Given the description of an element on the screen output the (x, y) to click on. 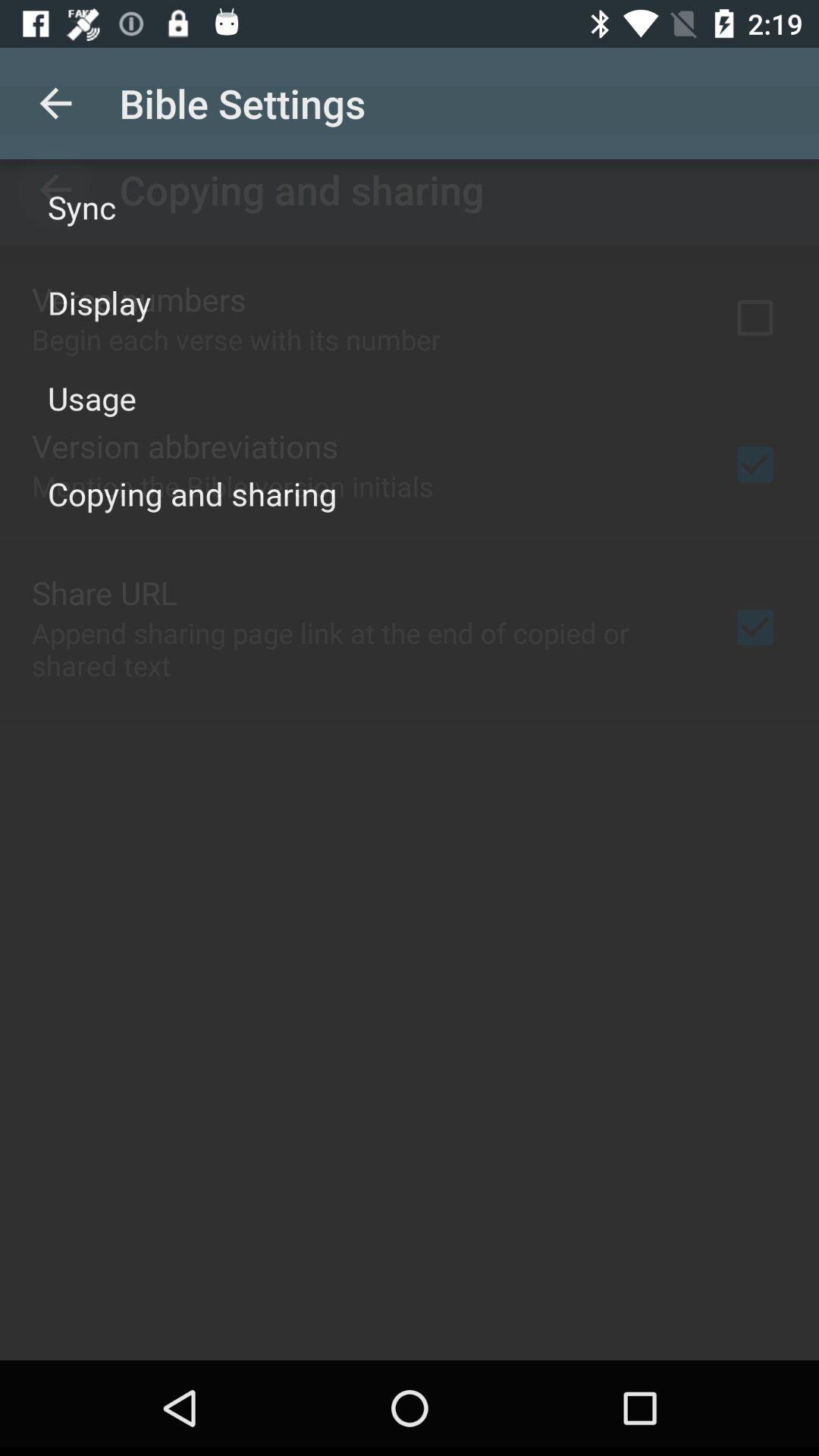
click icon below sync icon (99, 302)
